Given the description of an element on the screen output the (x, y) to click on. 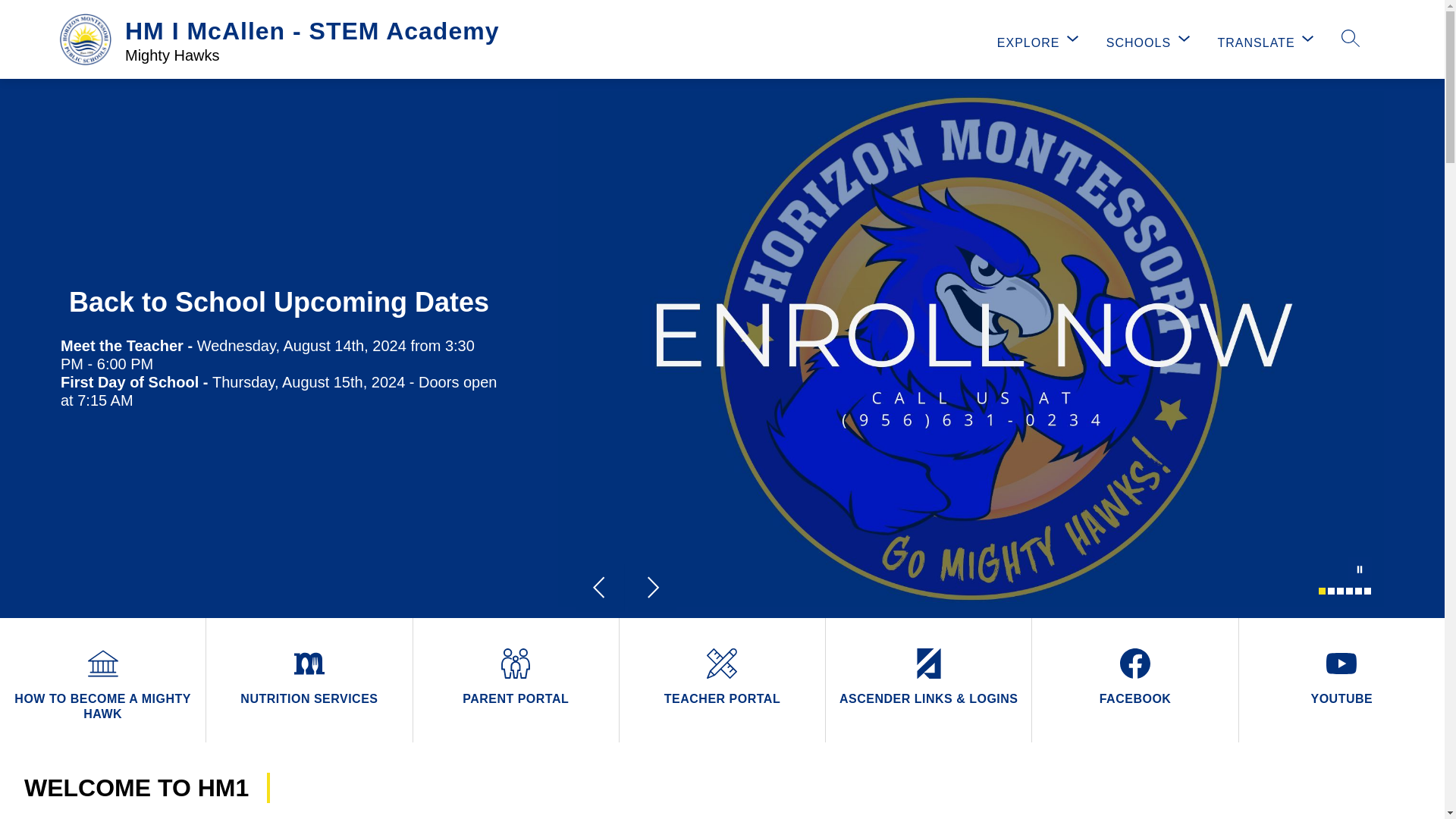
PARENTS (876, 39)
EXPLORE (1039, 40)
SCHOOLS (1149, 40)
ABOUT US (757, 39)
CAMPUS IMPROVEMENT PLAN (1154, 39)
CAMPUS IMPROVEMENT PLAN (1154, 38)
STAFF (984, 39)
TRANSLATE (1267, 40)
MORE (1299, 39)
